Given the description of an element on the screen output the (x, y) to click on. 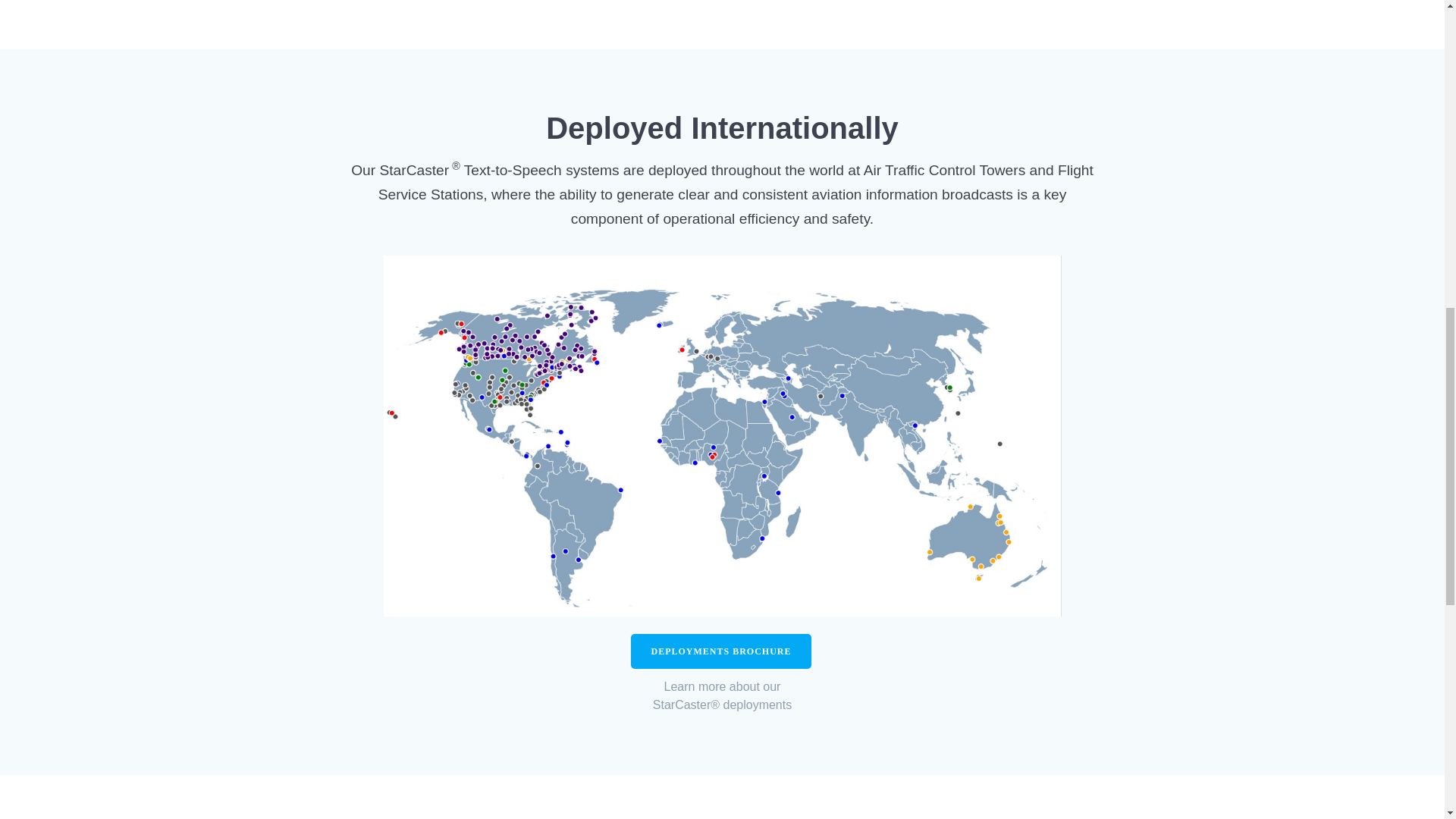
DEPLOYMENTS BROCHURE (720, 651)
